Given the description of an element on the screen output the (x, y) to click on. 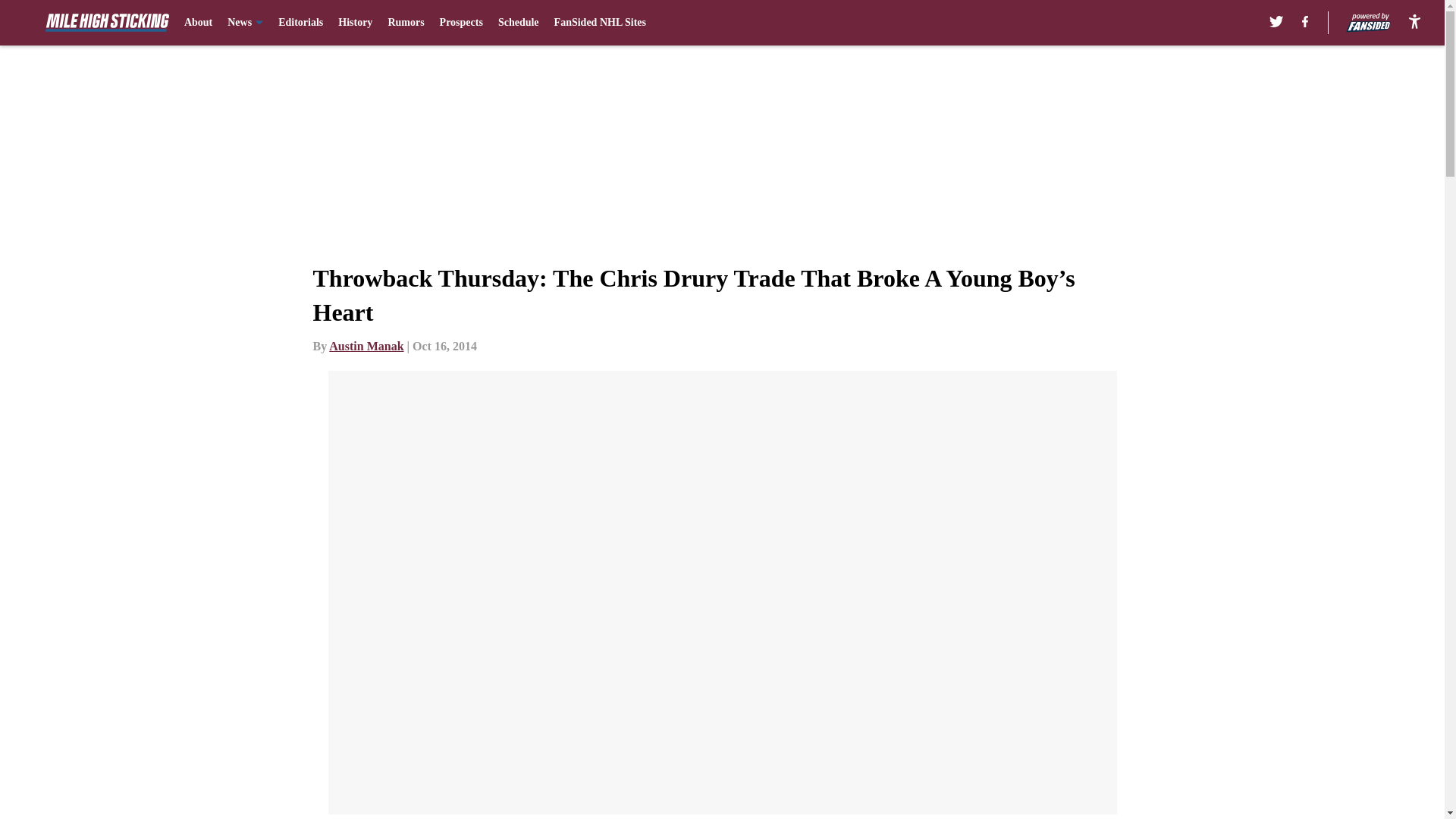
History (354, 22)
Editorials (300, 22)
FanSided NHL Sites (600, 22)
Austin Manak (366, 345)
Rumors (405, 22)
Schedule (517, 22)
About (198, 22)
Prospects (461, 22)
